Given the description of an element on the screen output the (x, y) to click on. 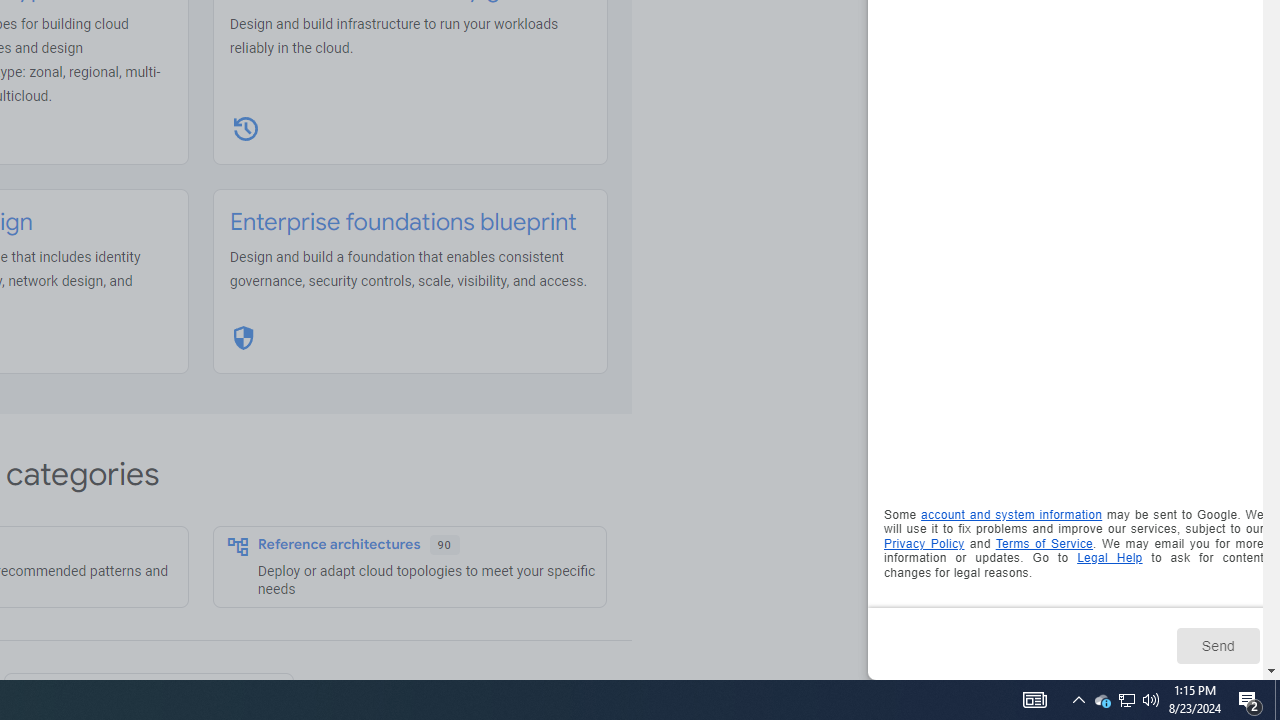
Send (1217, 645)
Opens in a new tab. Terms of Service (1044, 542)
Opens in a new tab. Legal Help (1109, 557)
Enterprise foundations blueprint (403, 221)
Opens in a new tab. Privacy Policy (924, 542)
account and system information (1012, 515)
